Given the description of an element on the screen output the (x, y) to click on. 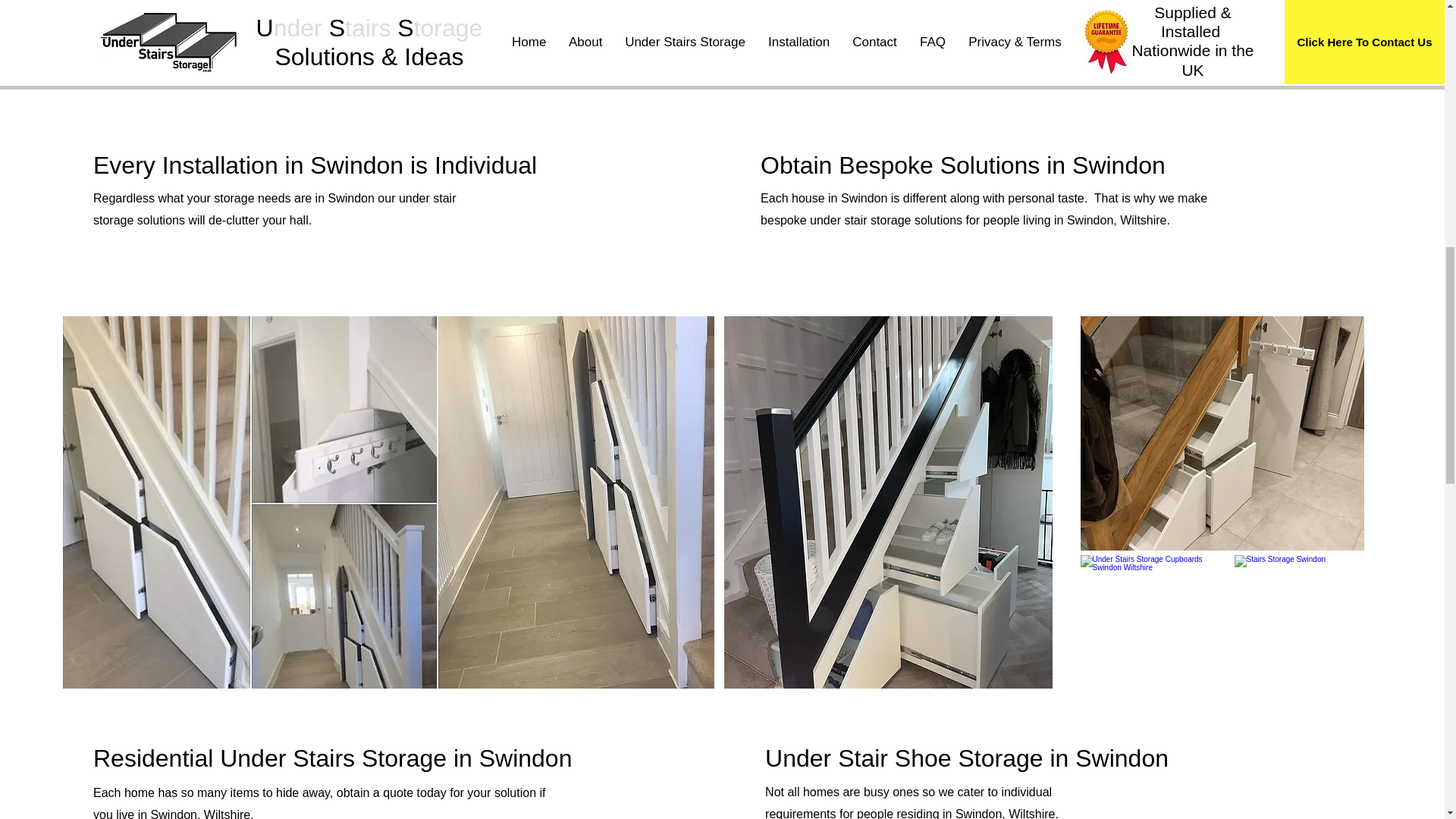
Storage for Under Stairs in Swindon (1299, 621)
Under Stairs Storag Solutions Installed in Swindon Wiltsire (1085, 43)
Under Stairs Storage Design Swindon (1221, 433)
Under Stairs Storage Company Swindon Wiltshire (1144, 621)
Get a quote for Under Stairs Storage in Swindon (375, 43)
